Given the description of an element on the screen output the (x, y) to click on. 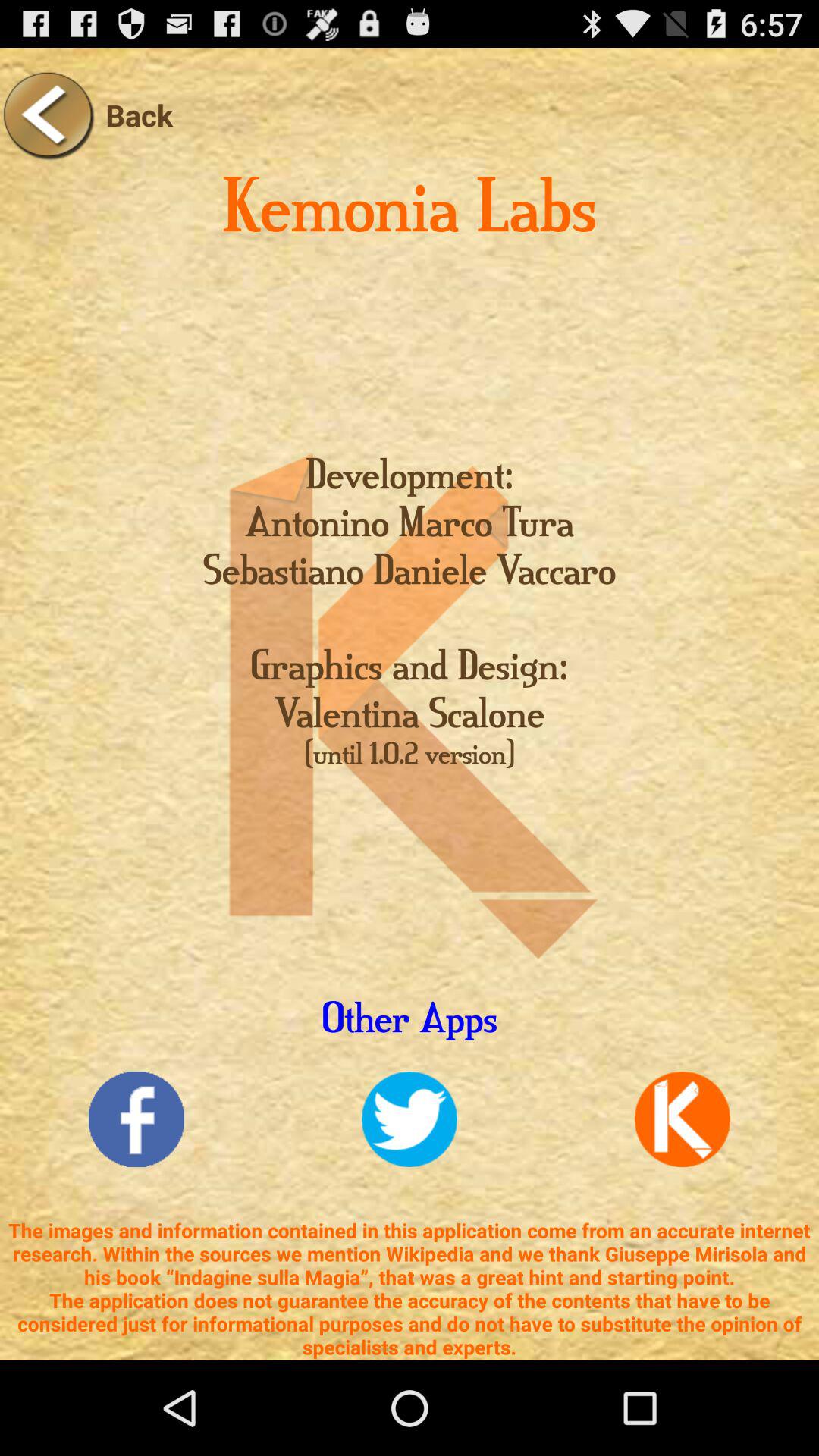
open facebook (136, 1119)
